Given the description of an element on the screen output the (x, y) to click on. 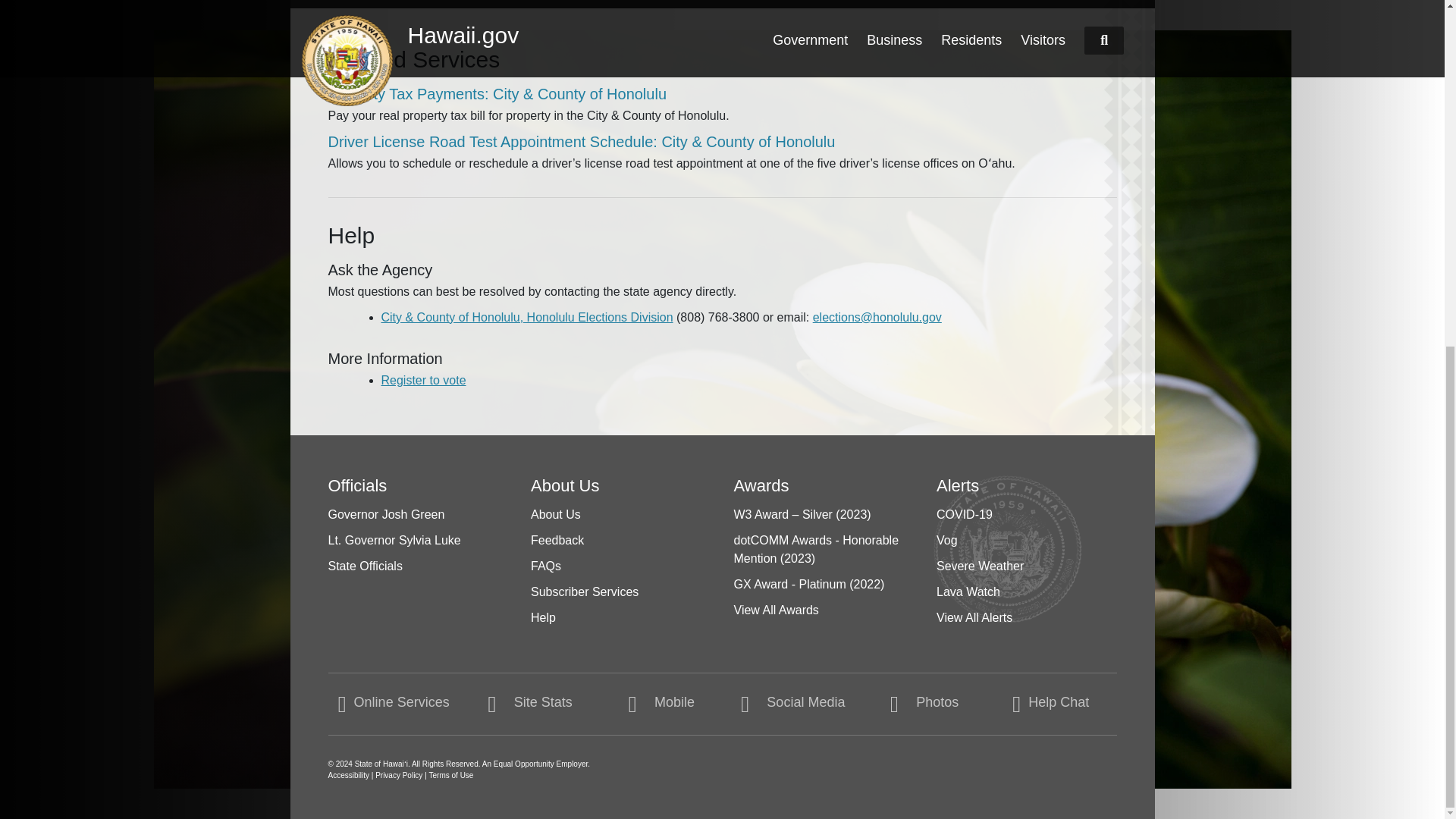
Lava Watch (968, 591)
FAQs (545, 565)
Mobile (656, 703)
Site Stats (525, 703)
COVID-19 (964, 513)
Vog (947, 540)
Photos (919, 703)
Register to vote for Online Ballot Request System (422, 379)
State Officials (364, 565)
Online Services (392, 703)
